Given the description of an element on the screen output the (x, y) to click on. 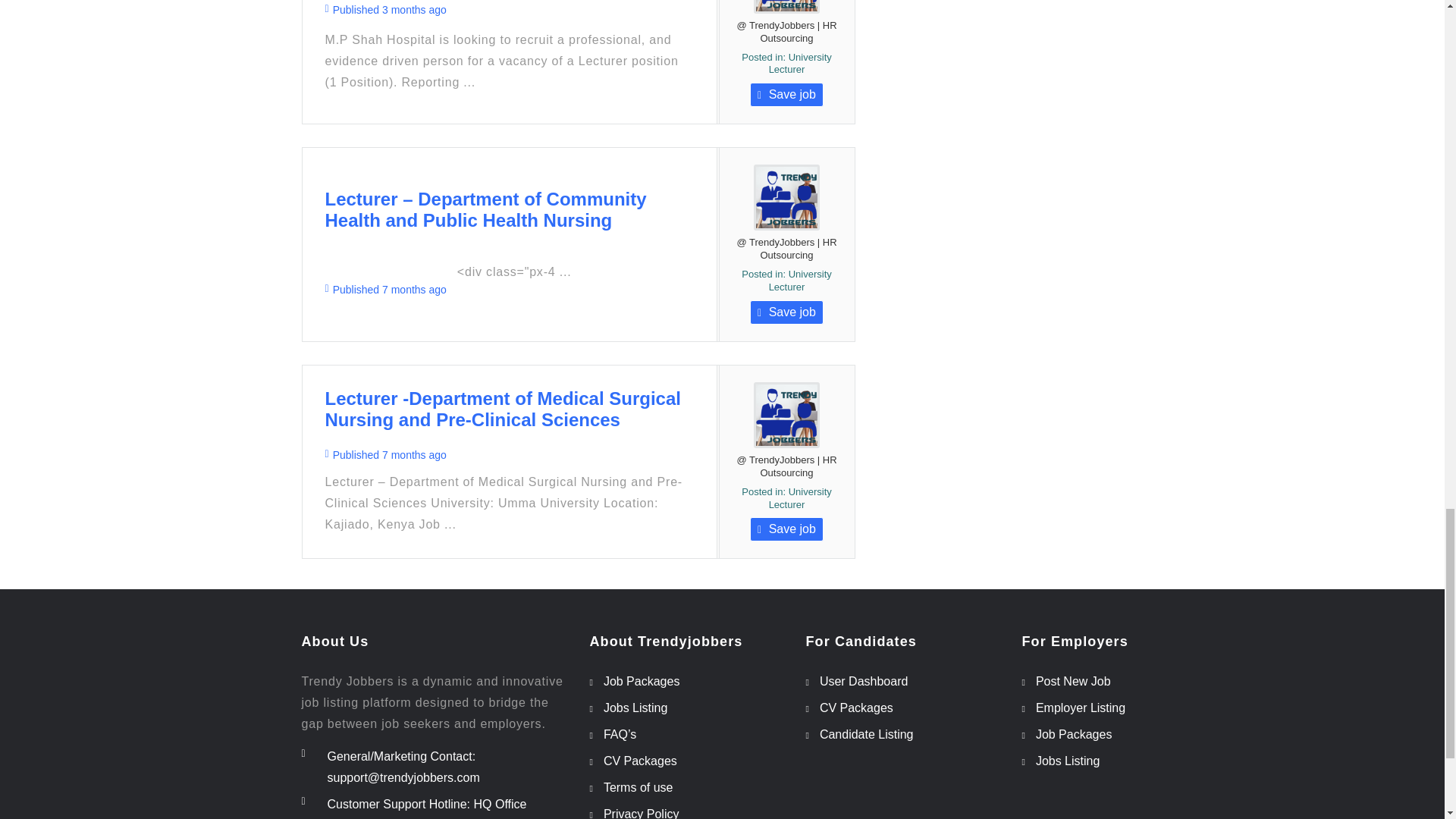
University Lecturer (799, 63)
